Given the description of an element on the screen output the (x, y) to click on. 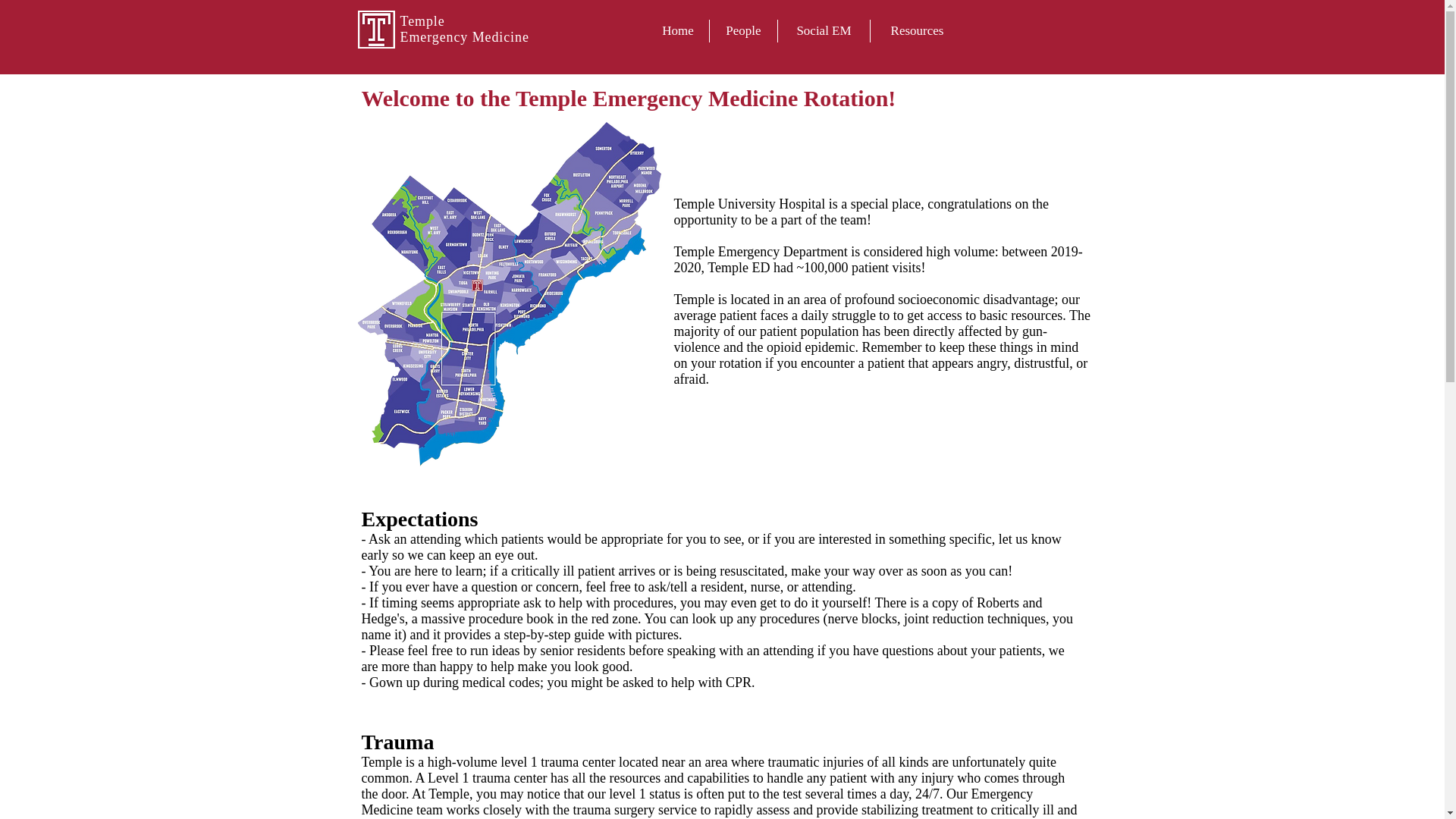
Social EM (823, 30)
Home (677, 30)
